Given the description of an element on the screen output the (x, y) to click on. 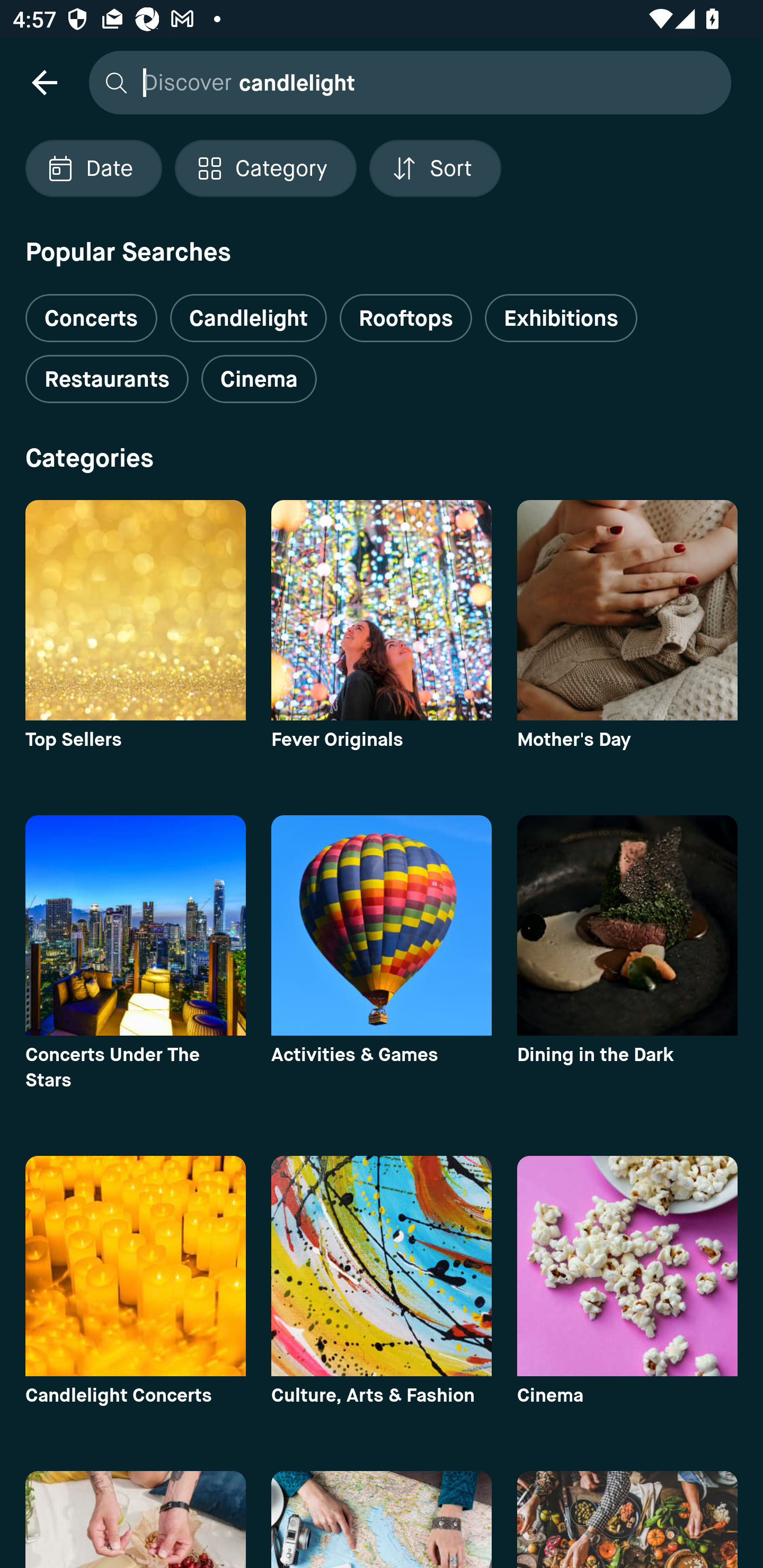
navigation icon (44, 81)
Discover candlelight (405, 81)
Localized description Date (93, 168)
Localized description Category (265, 168)
Localized description Sort (435, 168)
Concerts (91, 310)
Candlelight (248, 317)
Rooftops (405, 317)
Exhibitions (560, 317)
Restaurants (106, 379)
Cinema (258, 379)
category image (135, 609)
category image (381, 609)
category image (627, 609)
category image (135, 924)
category image (381, 924)
category image (627, 924)
category image (135, 1265)
category image (381, 1265)
category image (627, 1265)
